Given the description of an element on the screen output the (x, y) to click on. 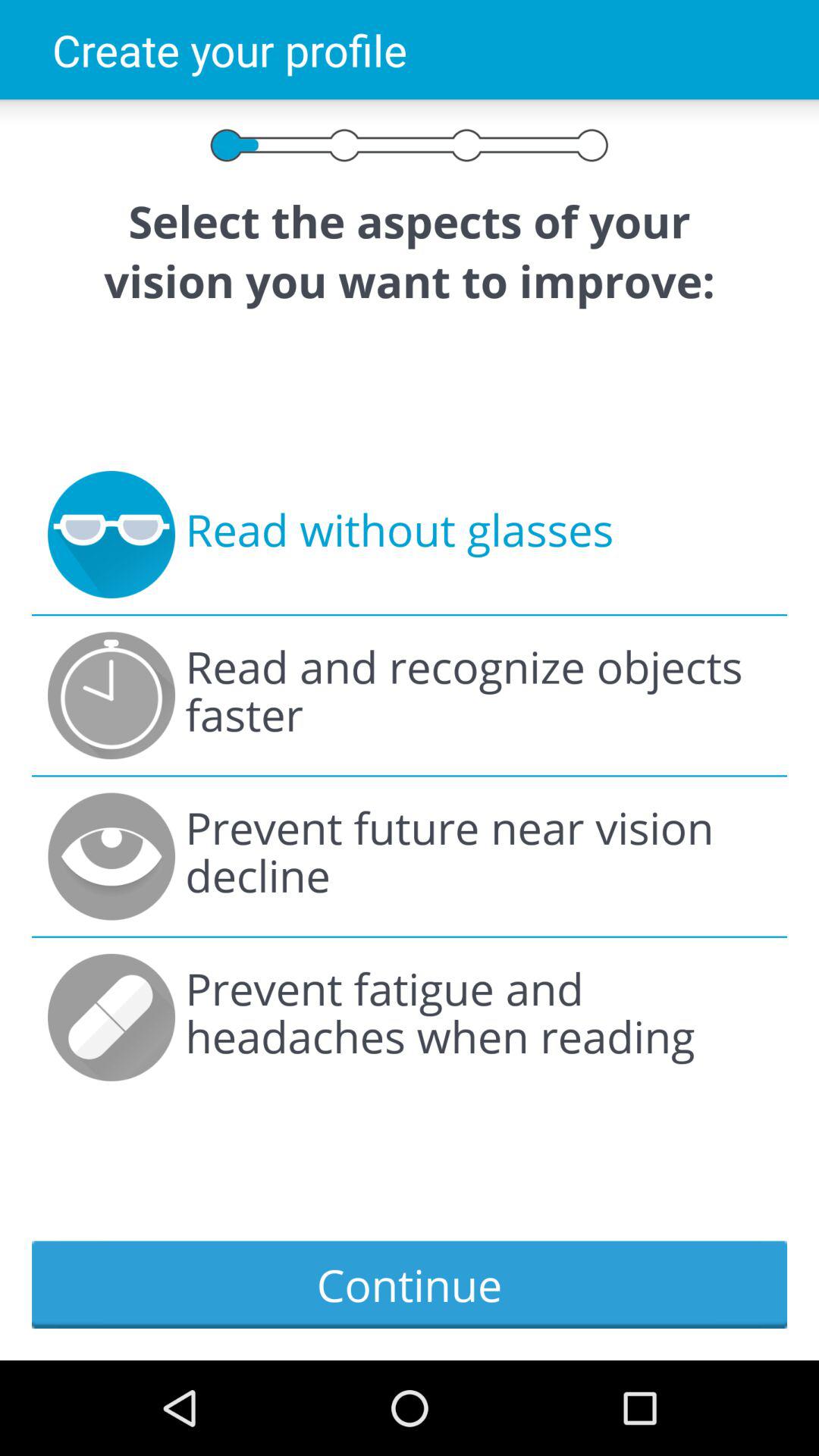
choose icon below select the aspects item (399, 534)
